Given the description of an element on the screen output the (x, y) to click on. 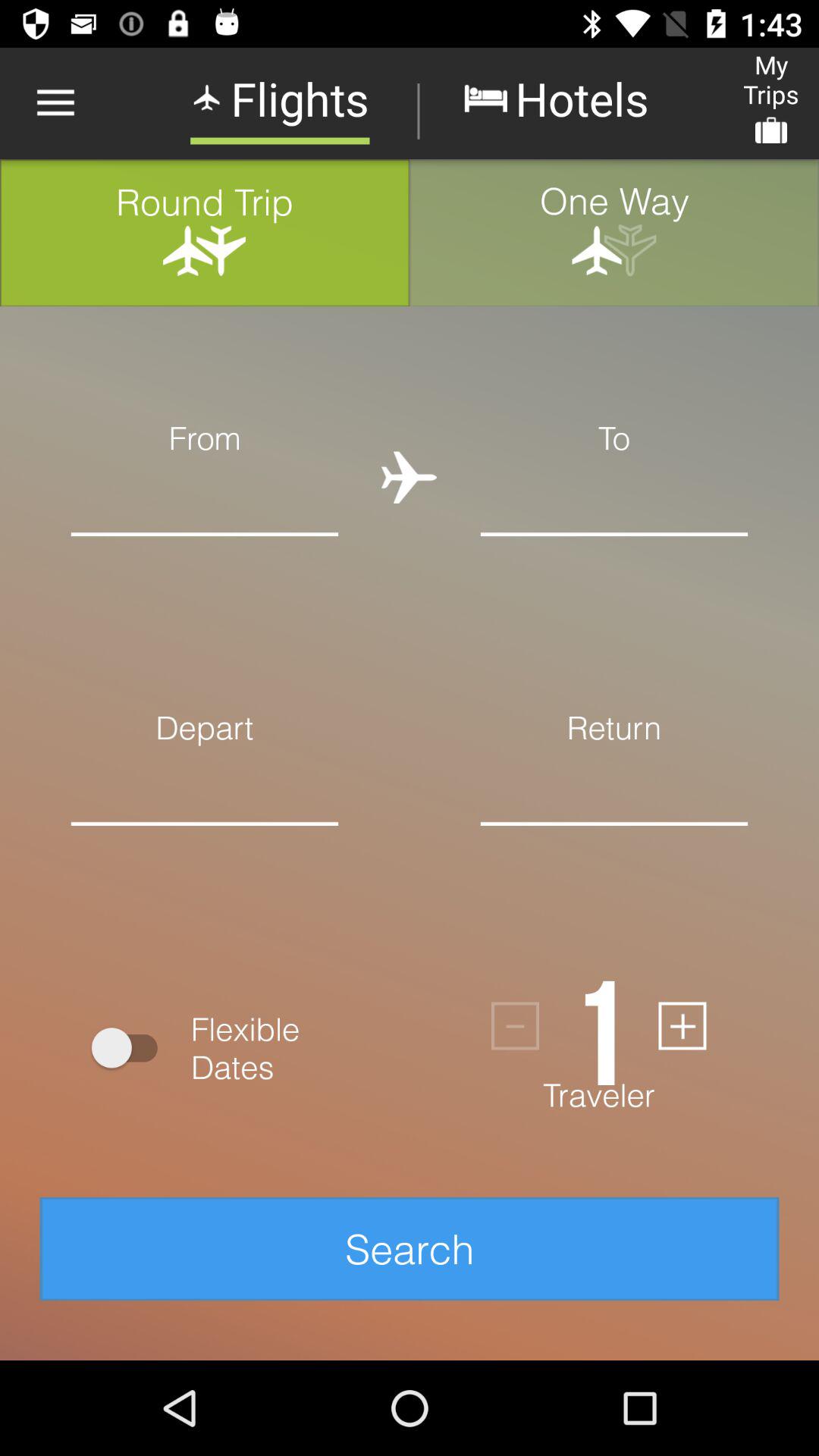
return date field (613, 847)
